Given the description of an element on the screen output the (x, y) to click on. 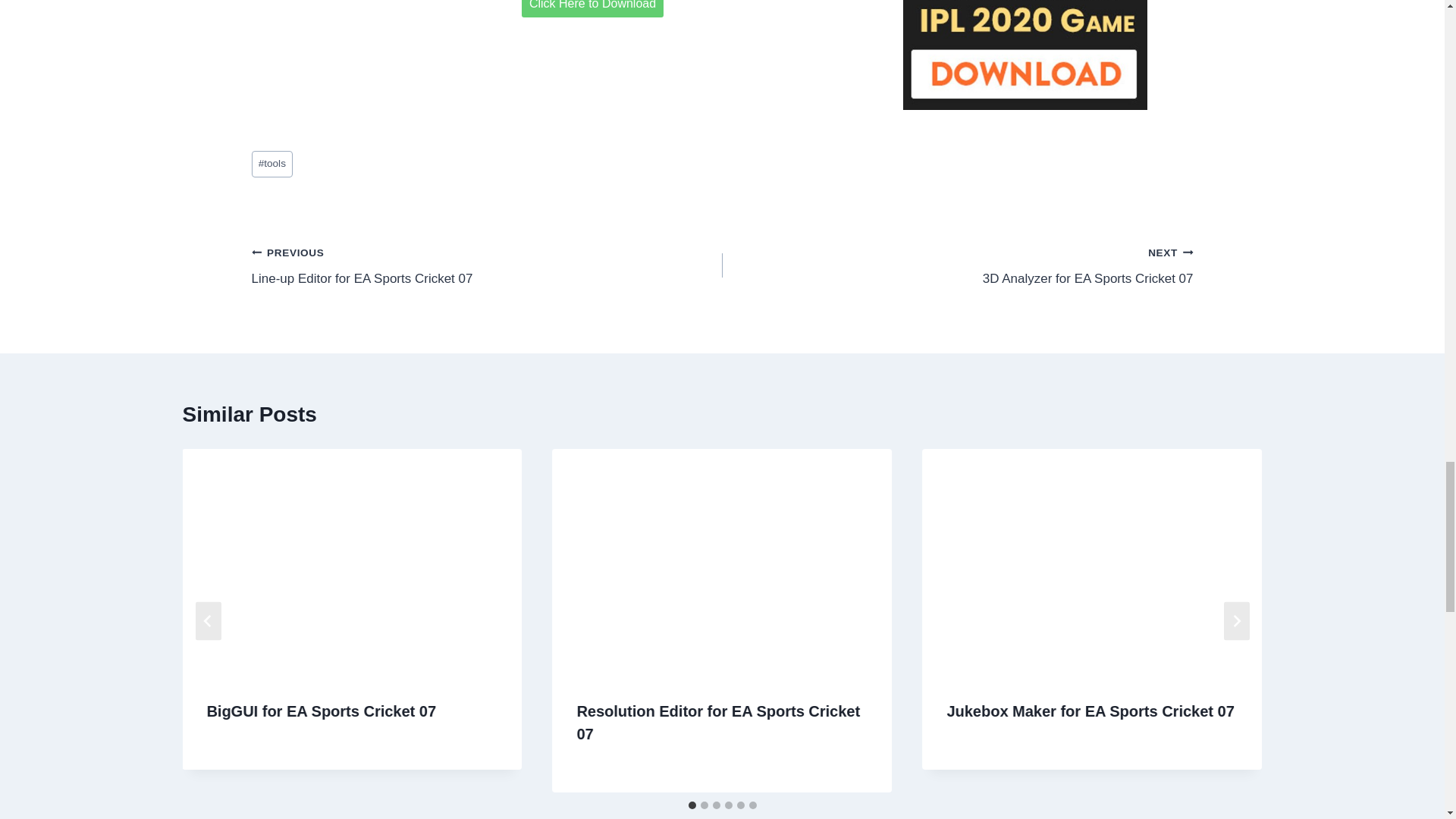
tools (272, 163)
